Given the description of an element on the screen output the (x, y) to click on. 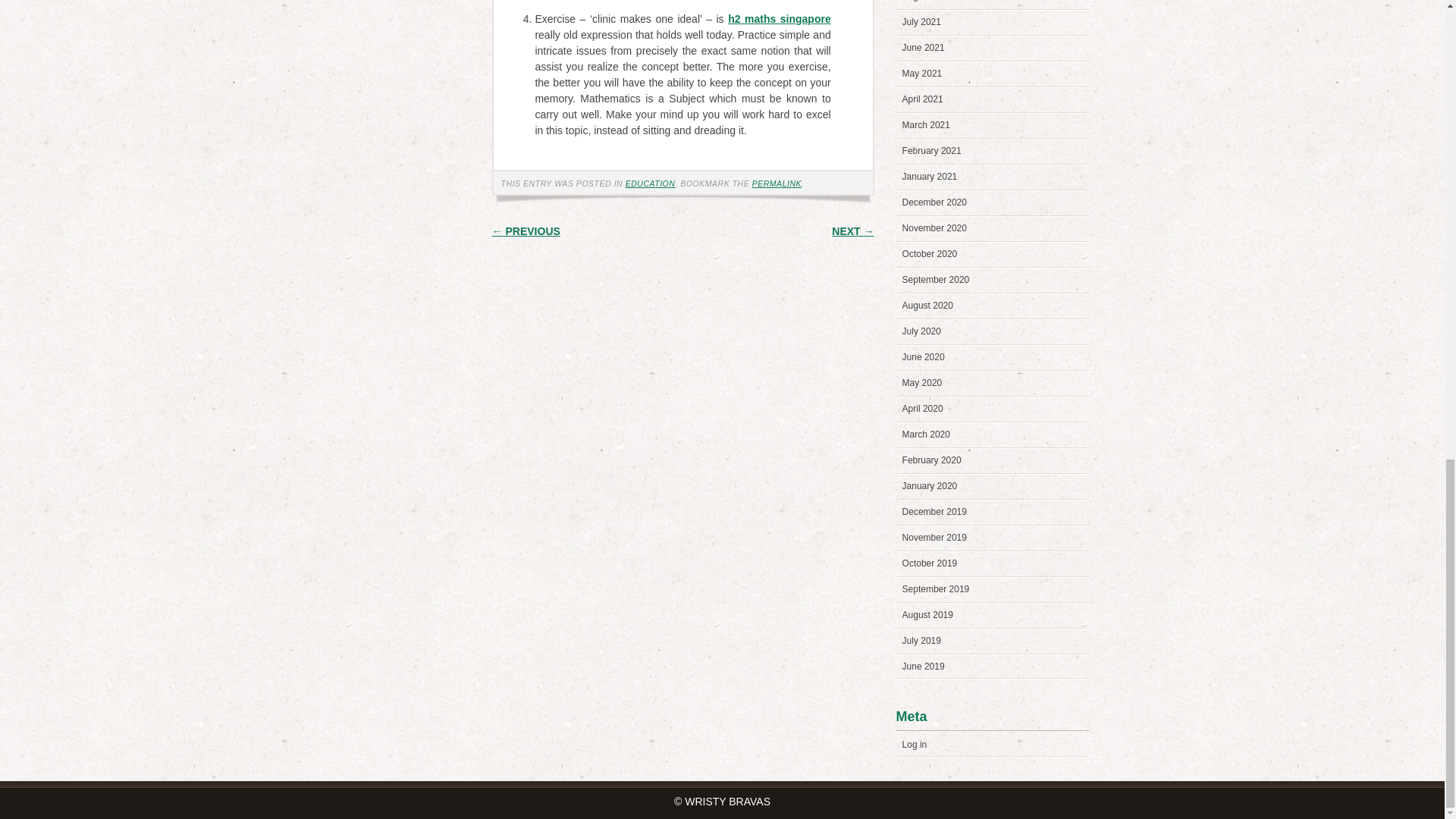
h2 maths singapore (779, 19)
EDUCATION (650, 183)
Permalink to The way to be successful in mathematics (777, 183)
PERMALINK (777, 183)
